Given the description of an element on the screen output the (x, y) to click on. 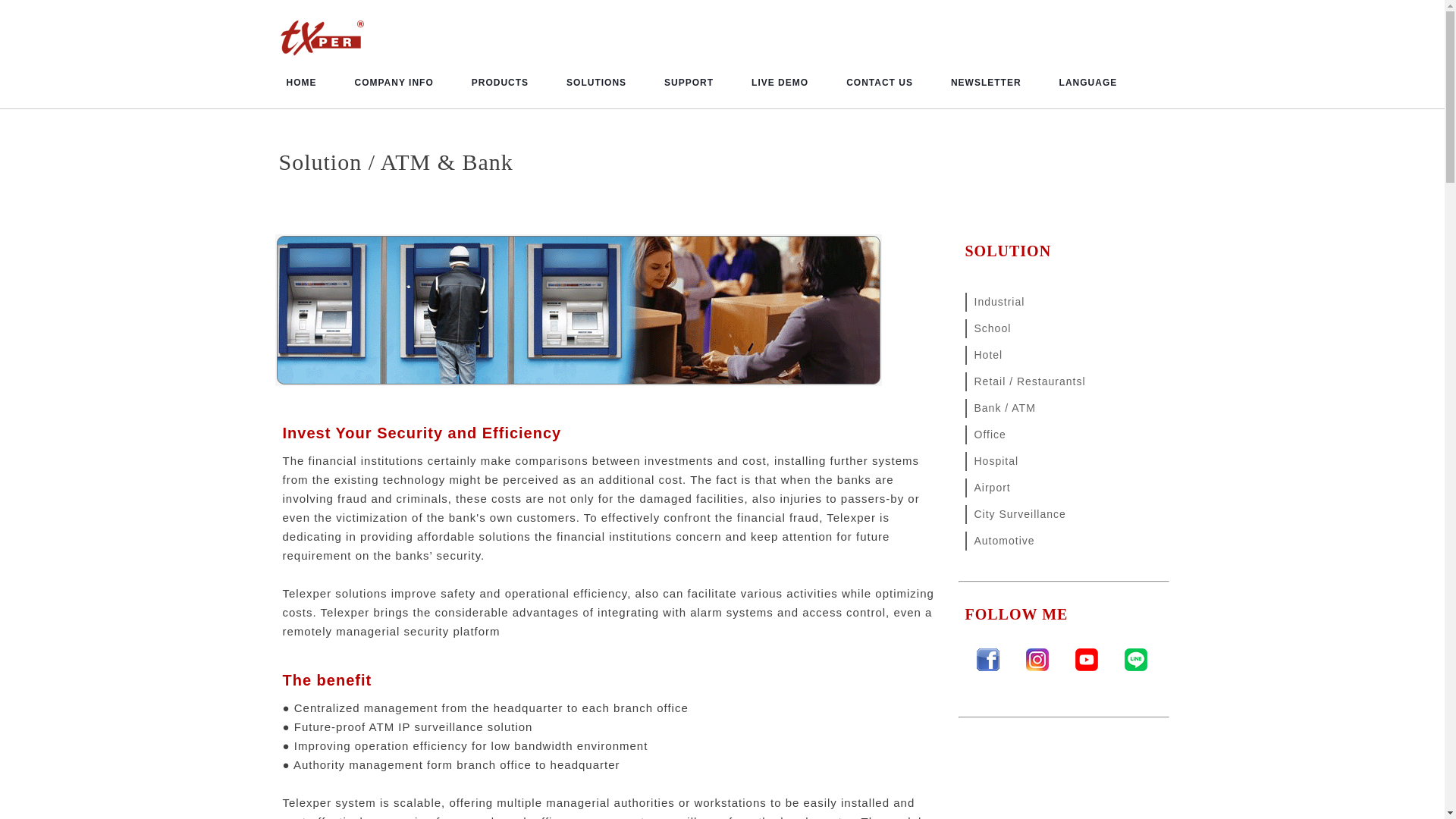
COMPANY INFO (392, 82)
PRODUCTS (499, 82)
HOME (300, 82)
